Given the description of an element on the screen output the (x, y) to click on. 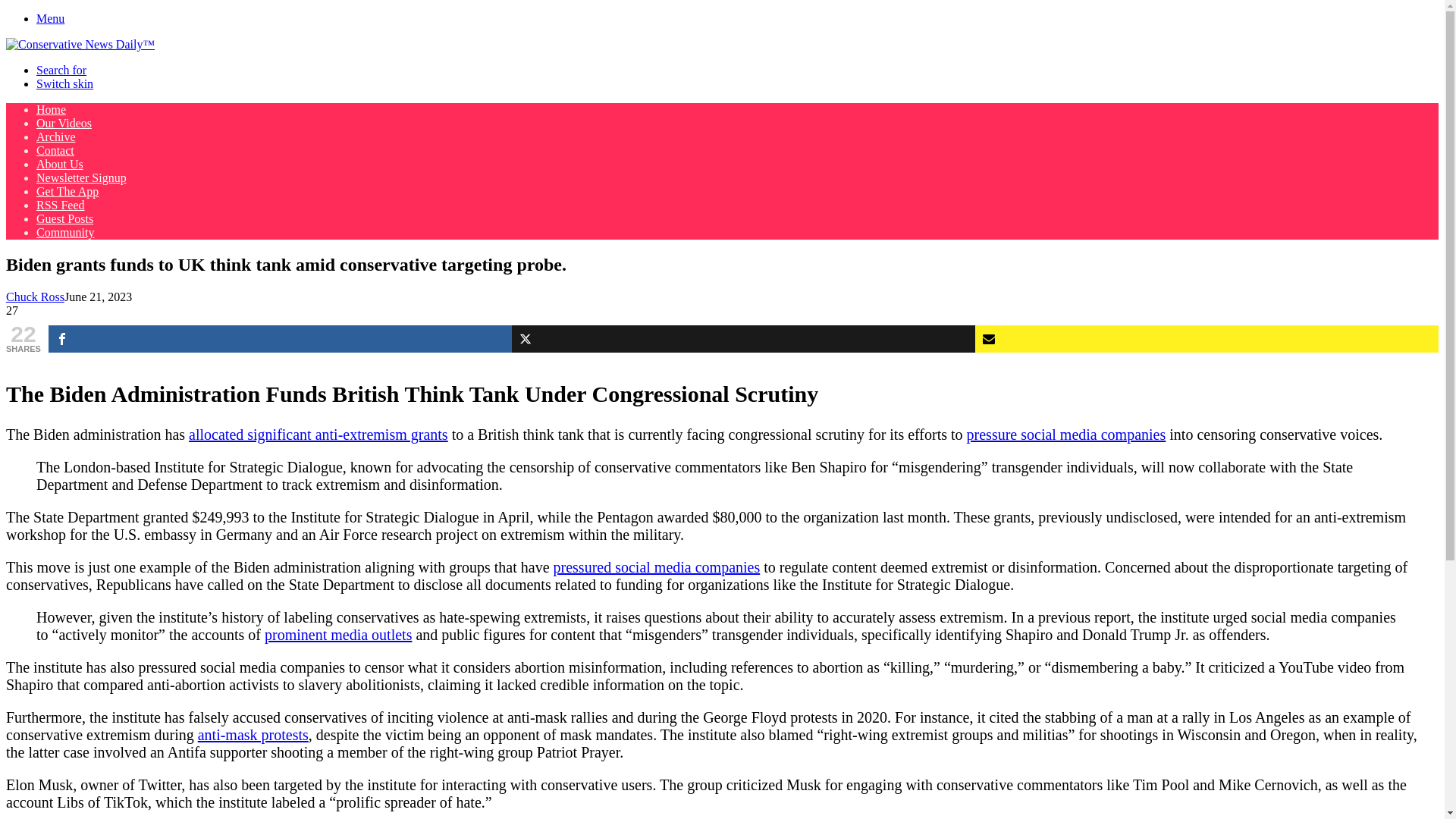
allocated significant anti-extremism grants (318, 434)
pressure social media companies (1066, 434)
Facebook (280, 338)
Menu (50, 18)
Twitter (743, 338)
About Us (59, 164)
Search for (60, 69)
Get The App (67, 191)
Switch skin (64, 83)
Chuck Ross (34, 296)
Our Videos (63, 123)
Chuck Ross (34, 296)
Newsletter Signup (81, 177)
RSS Feed (60, 205)
